Given the description of an element on the screen output the (x, y) to click on. 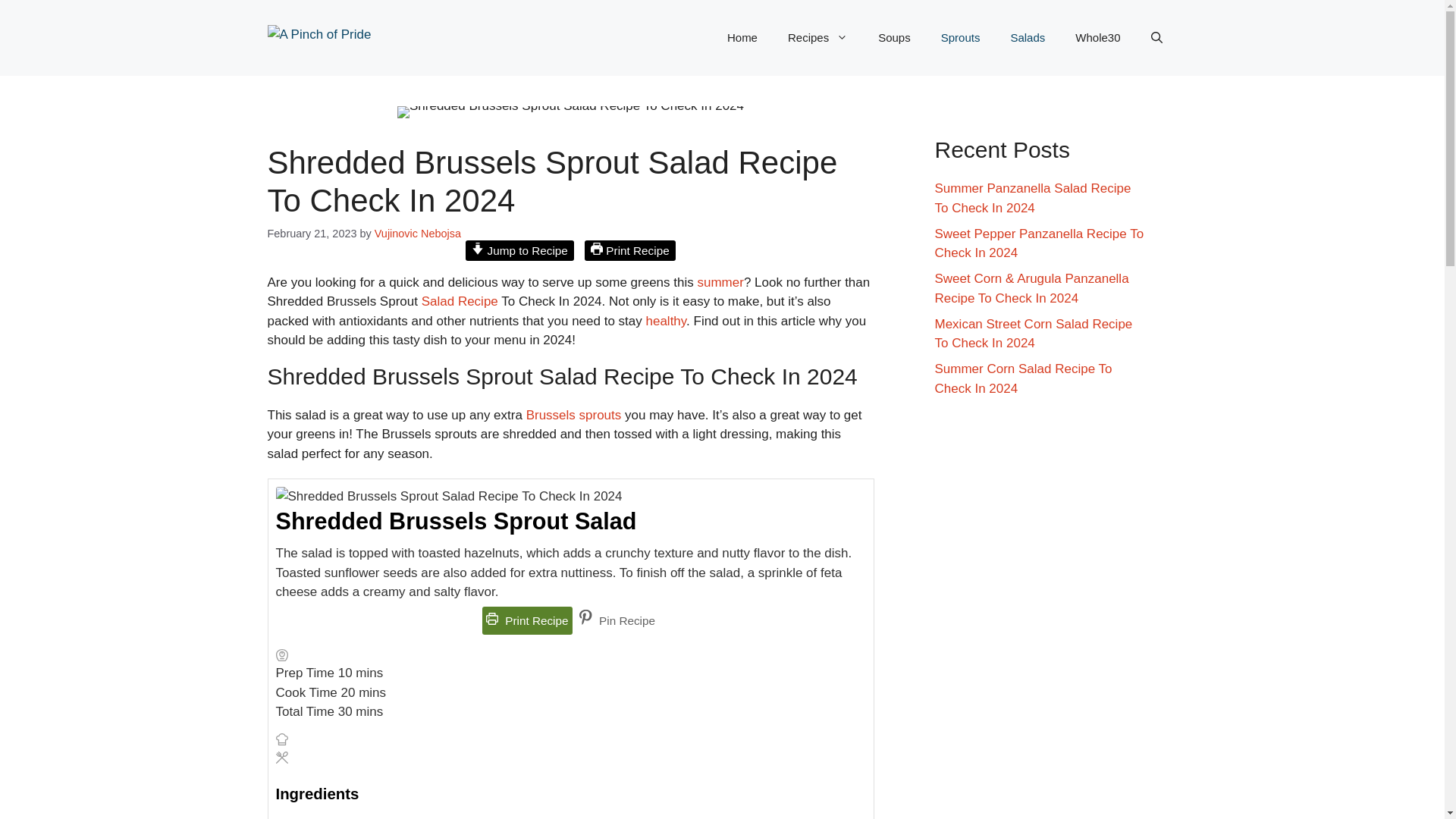
Summer Panzanella Salad Recipe To Check In 2024 (1032, 197)
Mexican Street Corn Salad Recipe To Check In 2024 (1033, 333)
View all posts by Vujinovic Nebojsa (417, 233)
Summer Corn Salad Recipe To Check In 2024 (1023, 378)
Salad (438, 301)
Jump to Recipe (519, 250)
Sprouts (960, 37)
Brussels sprouts (573, 414)
Print Recipe (526, 620)
healthy (666, 320)
Print Recipe (630, 250)
Vujinovic Nebojsa (417, 233)
Soups (894, 37)
Pin Recipe (617, 620)
Sweet Pepper Panzanella Recipe To Check In 2024 (1038, 243)
